Given the description of an element on the screen output the (x, y) to click on. 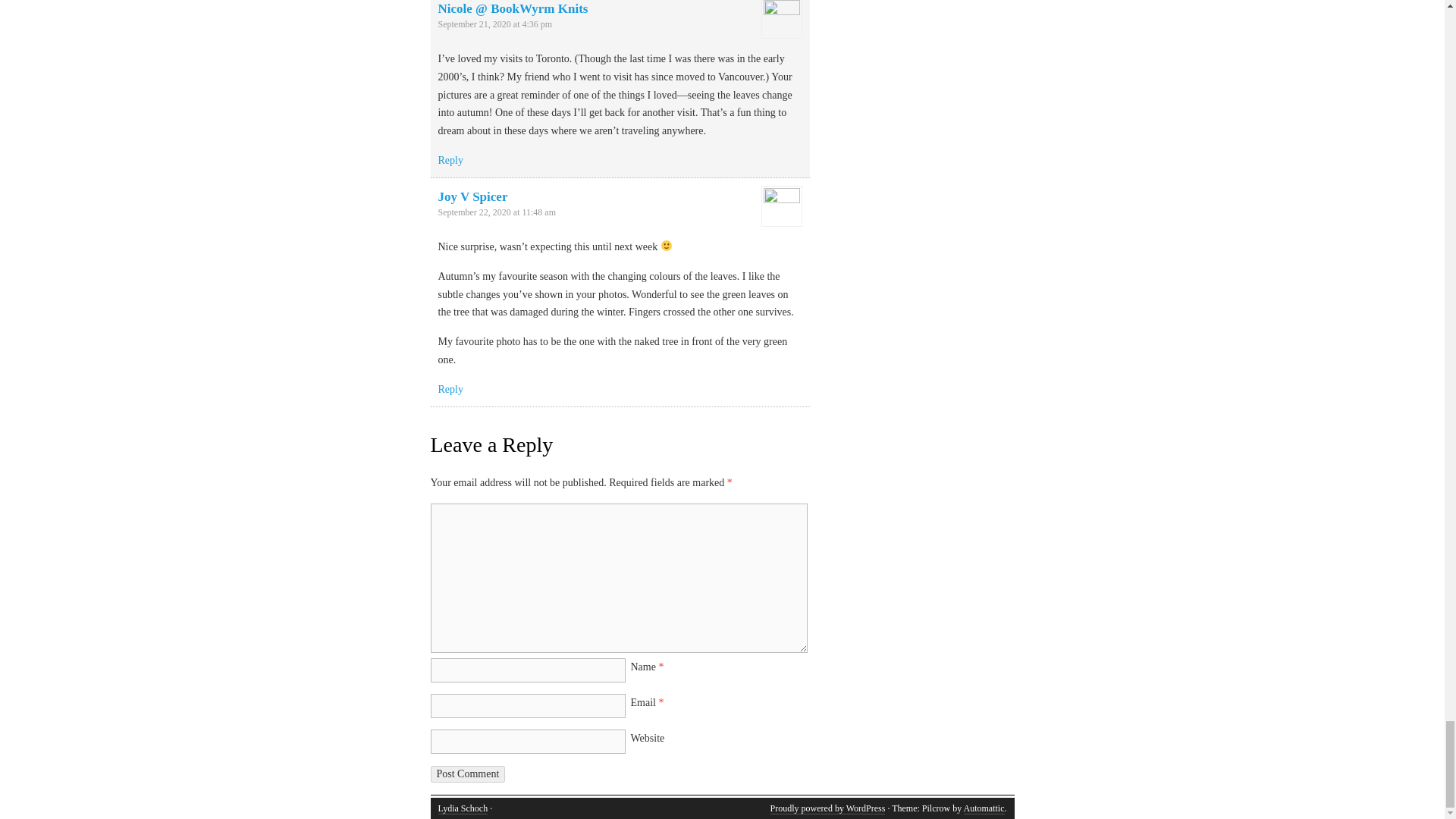
Lydia Schoch (462, 808)
Post Comment (467, 773)
A Semantic Personal Publishing Platform (827, 808)
